Given the description of an element on the screen output the (x, y) to click on. 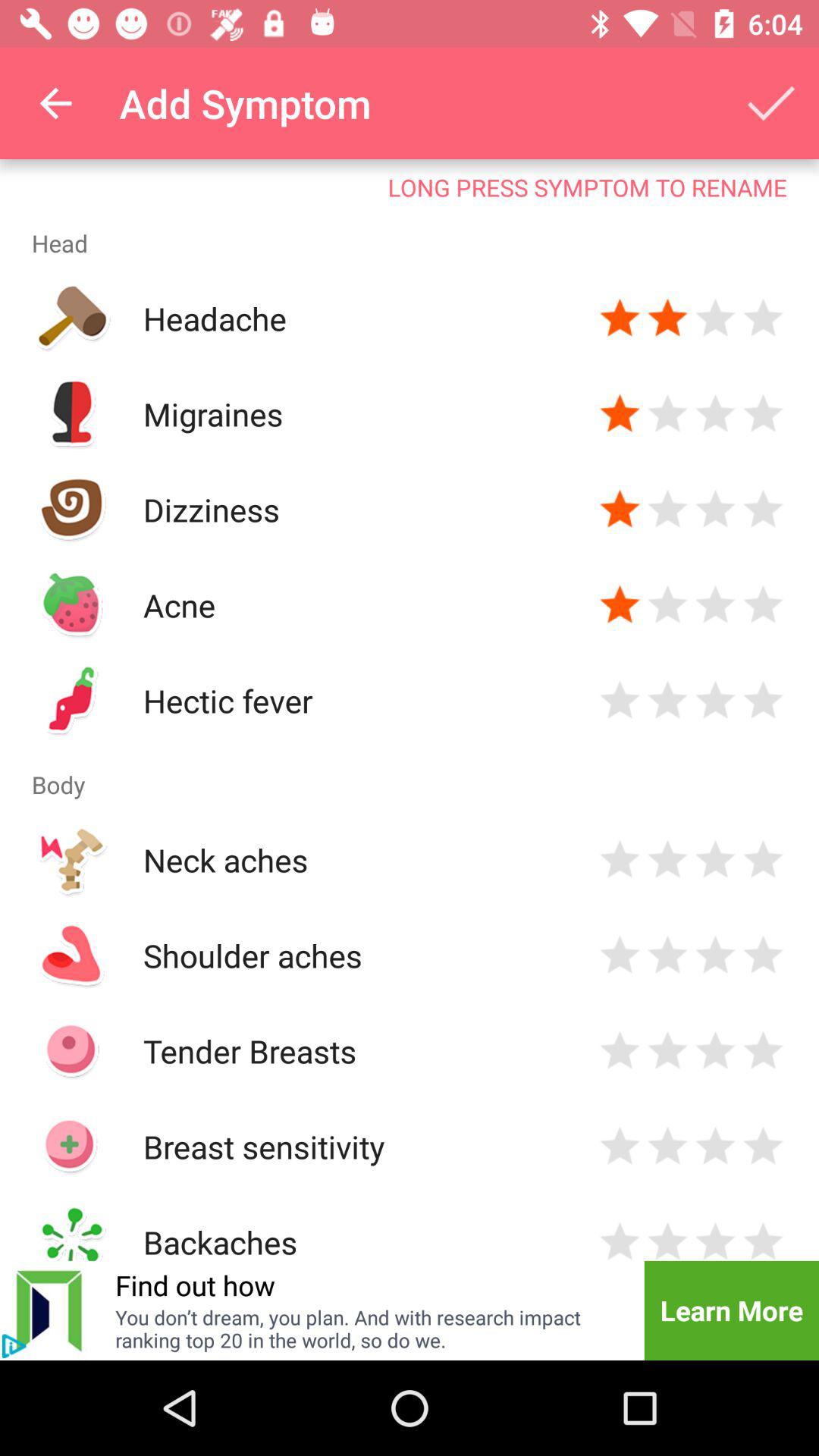
1 star rating (619, 955)
